Given the description of an element on the screen output the (x, y) to click on. 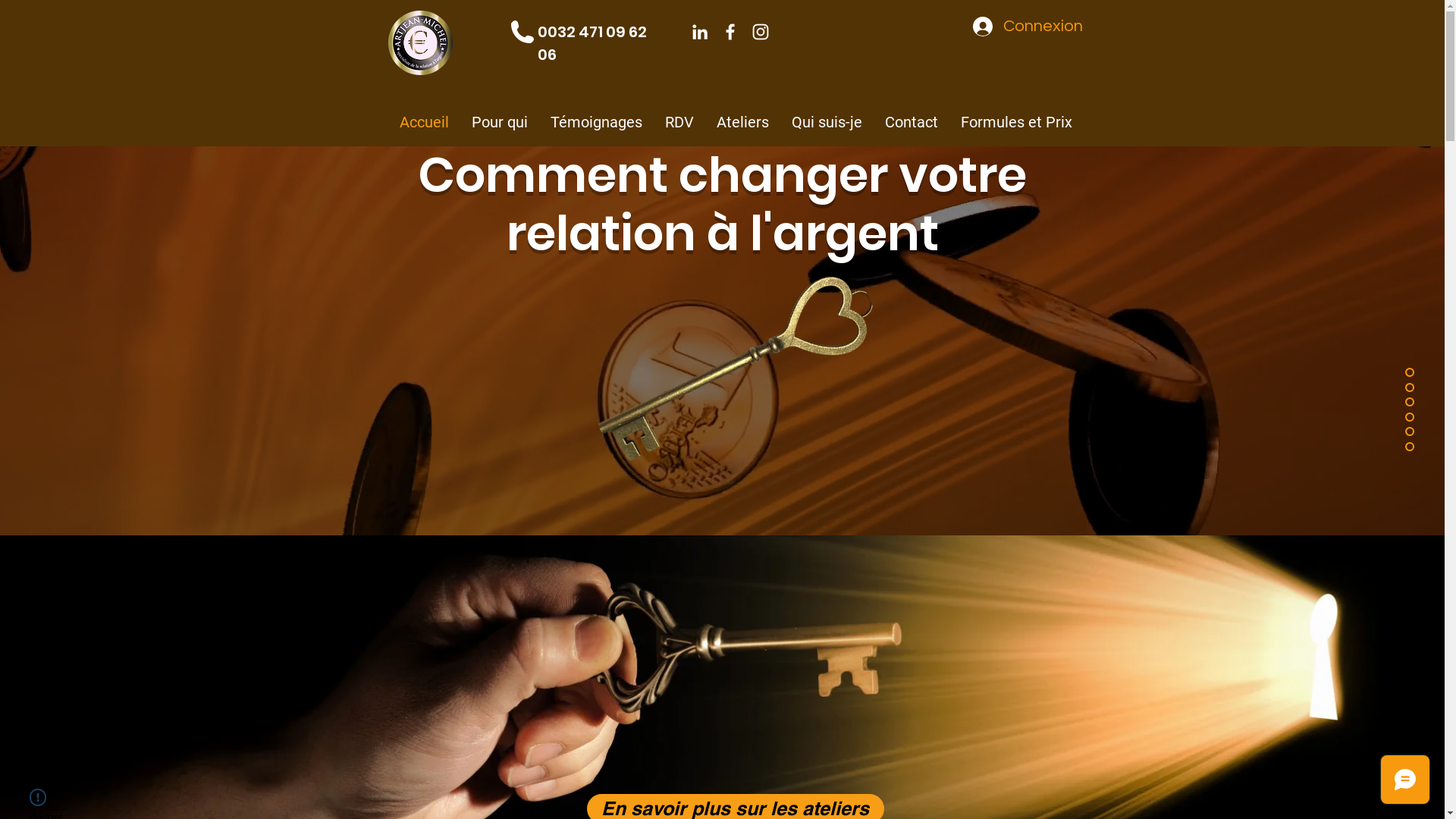
Qui suis-je Element type: text (825, 121)
Connexion Element type: text (1026, 26)
Formules et Prix Element type: text (1016, 121)
Accueil Element type: text (424, 121)
RDV Element type: text (679, 121)
Contact Element type: text (911, 121)
Pour qui Element type: text (498, 121)
Ateliers Element type: text (742, 121)
